Given the description of an element on the screen output the (x, y) to click on. 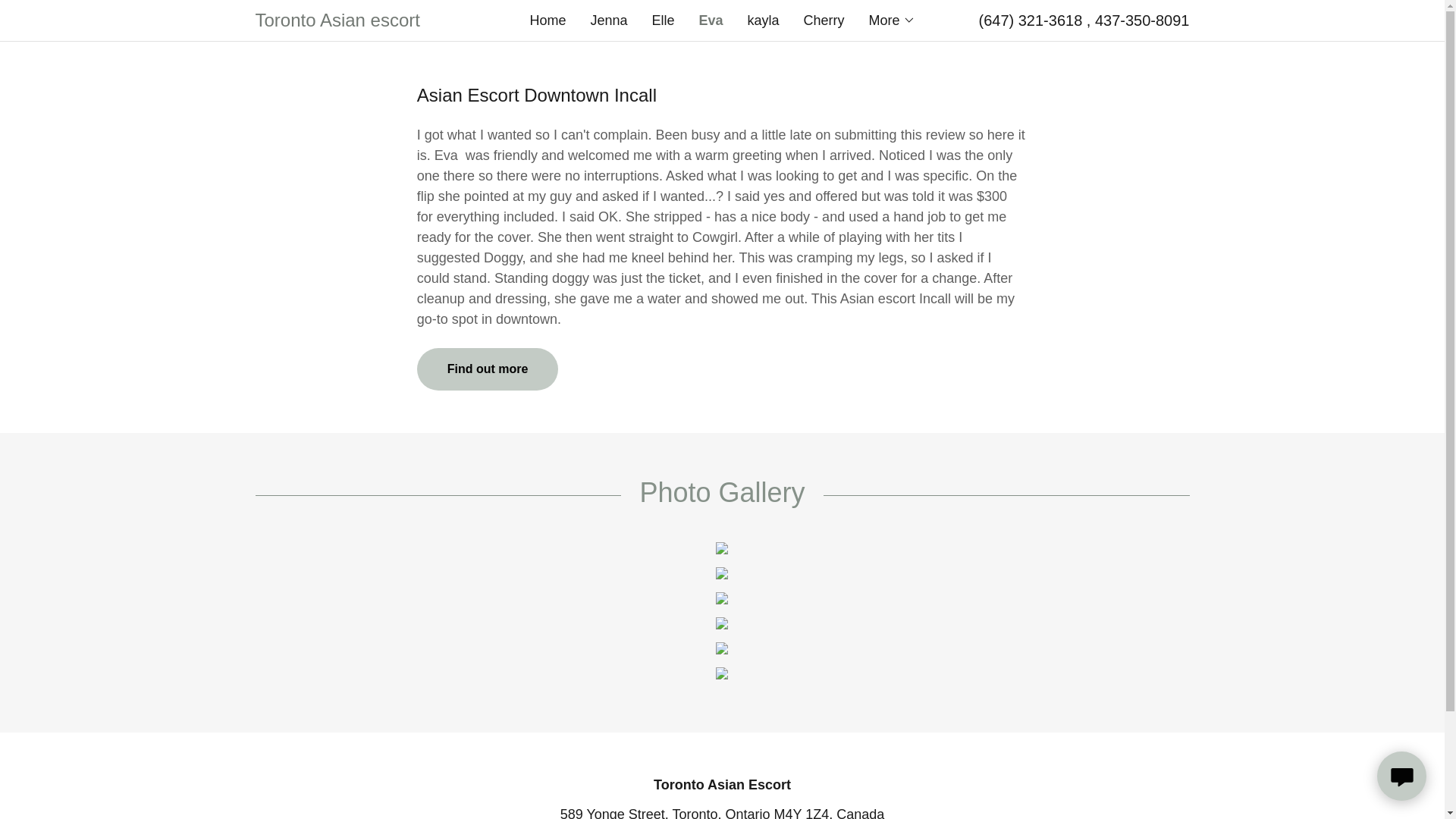
kayla (763, 20)
Home (547, 20)
Jenna (608, 20)
Toronto Asian escort (370, 21)
Cherry (823, 20)
Toronto Asian escort (370, 21)
Eva (710, 20)
Elle (662, 20)
